Given the description of an element on the screen output the (x, y) to click on. 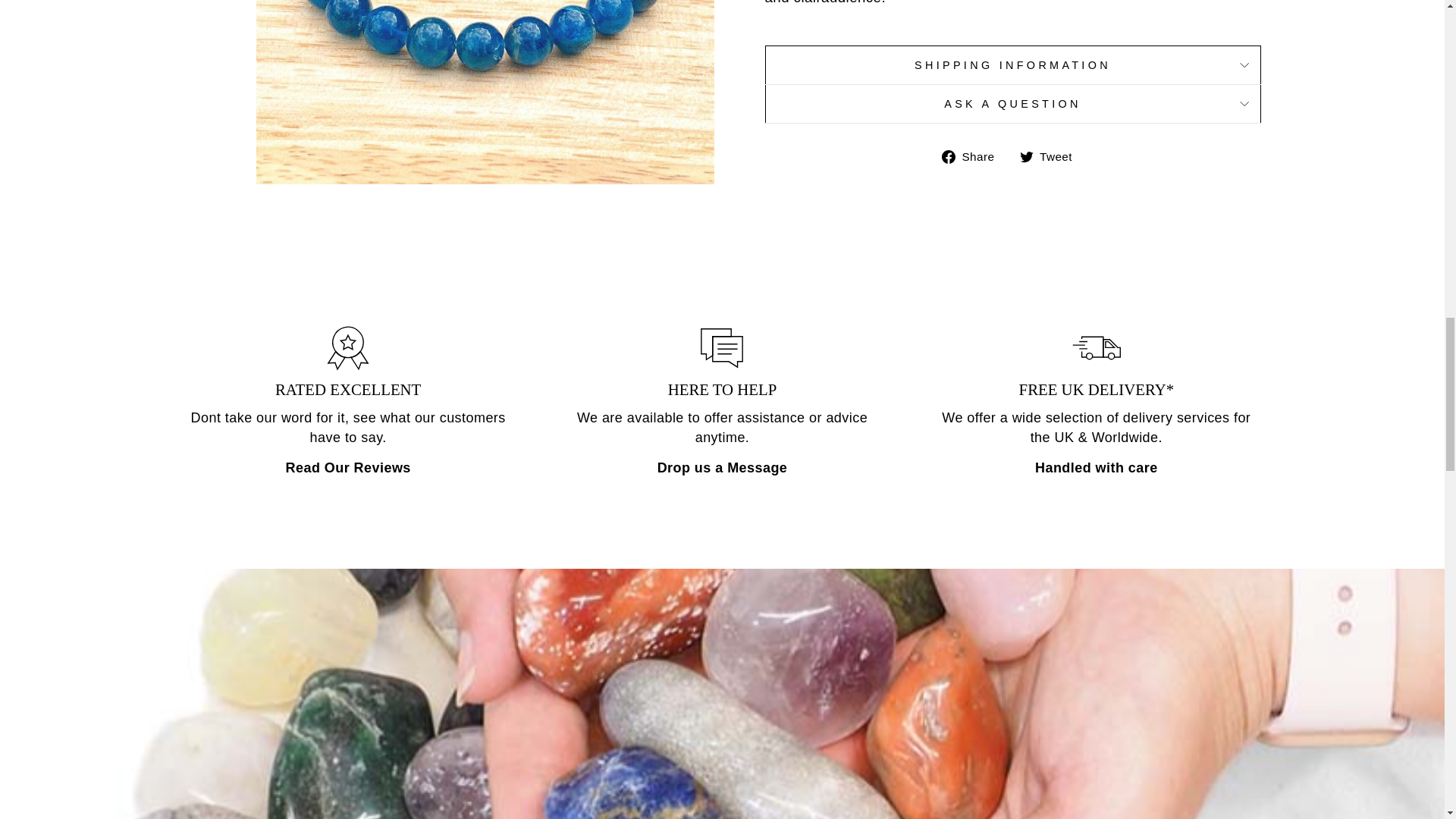
Share on Facebook (974, 155)
Read Our Reviews (347, 467)
Tweet on Twitter (1051, 155)
